Given the description of an element on the screen output the (x, y) to click on. 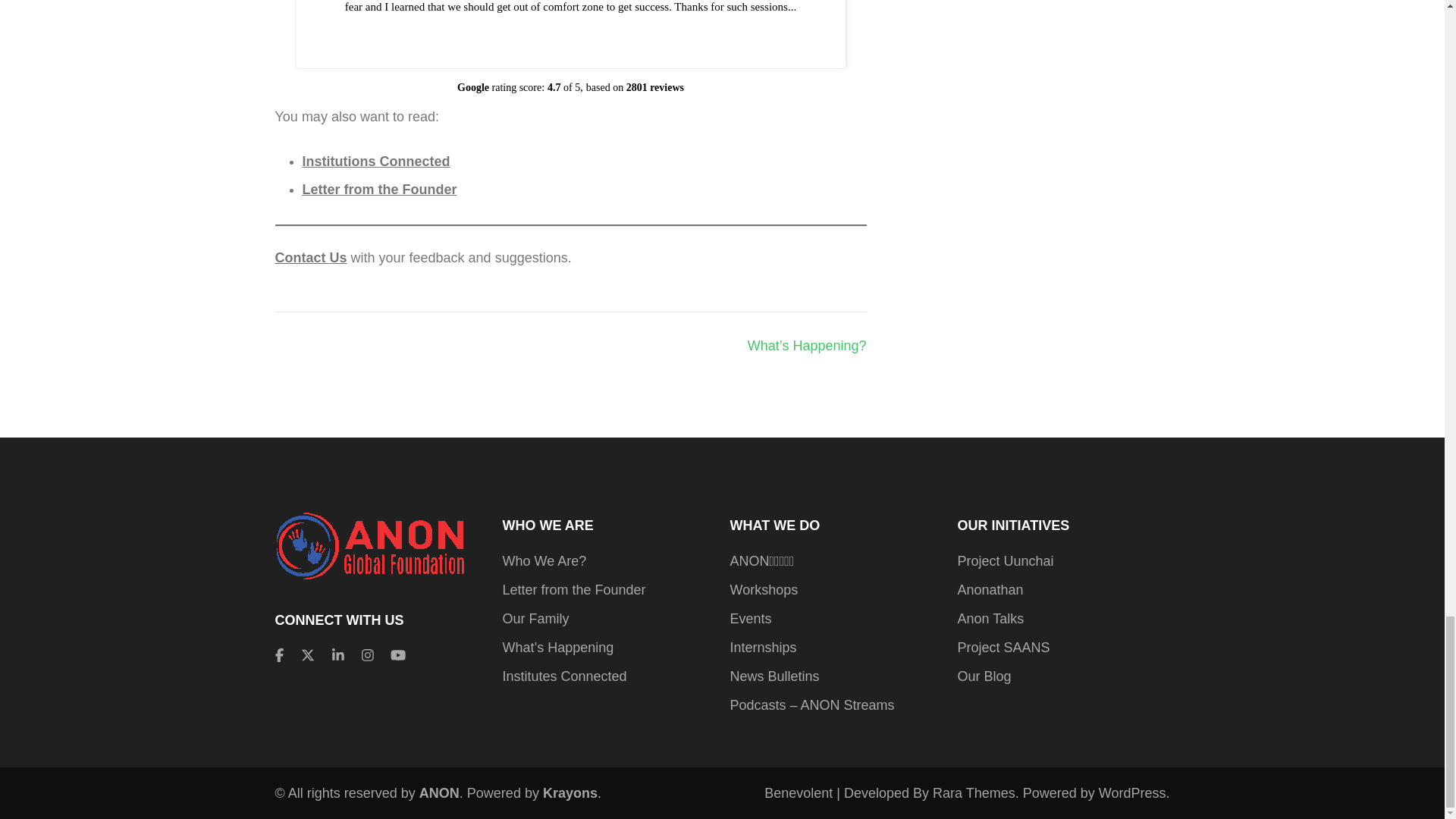
Instagram (366, 655)
YouTube (398, 655)
Facebook (278, 655)
Linkedin (337, 655)
Twitter (307, 655)
